Given the description of an element on the screen output the (x, y) to click on. 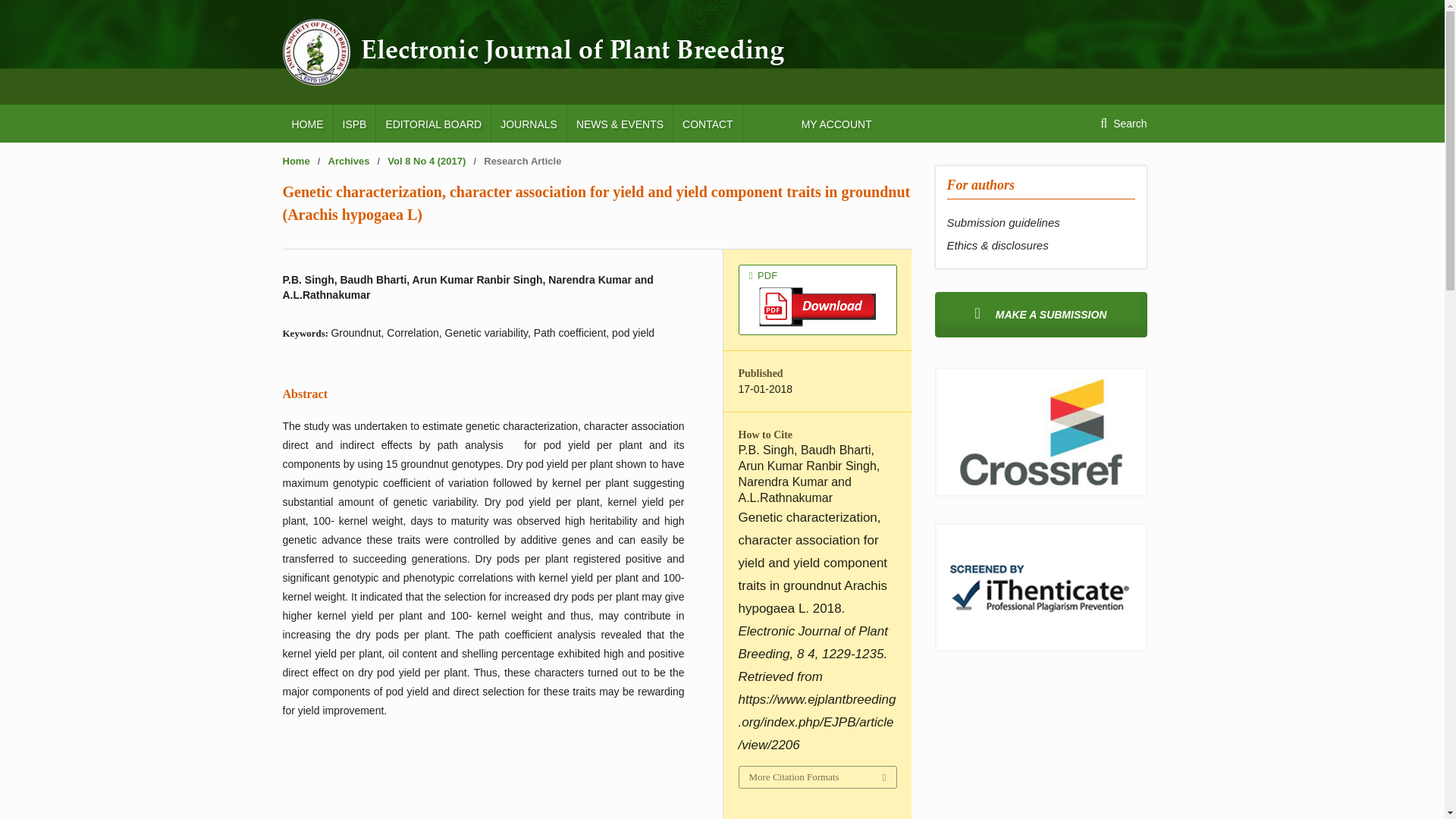
Search (1122, 123)
JOURNALS (529, 123)
ISPB (354, 123)
MY ACCOUNT (836, 123)
More Citation Formats (816, 776)
EDITORIAL BOARD (432, 123)
Home (295, 160)
PDF (817, 299)
Archives (348, 160)
HOME (306, 123)
